Given the description of an element on the screen output the (x, y) to click on. 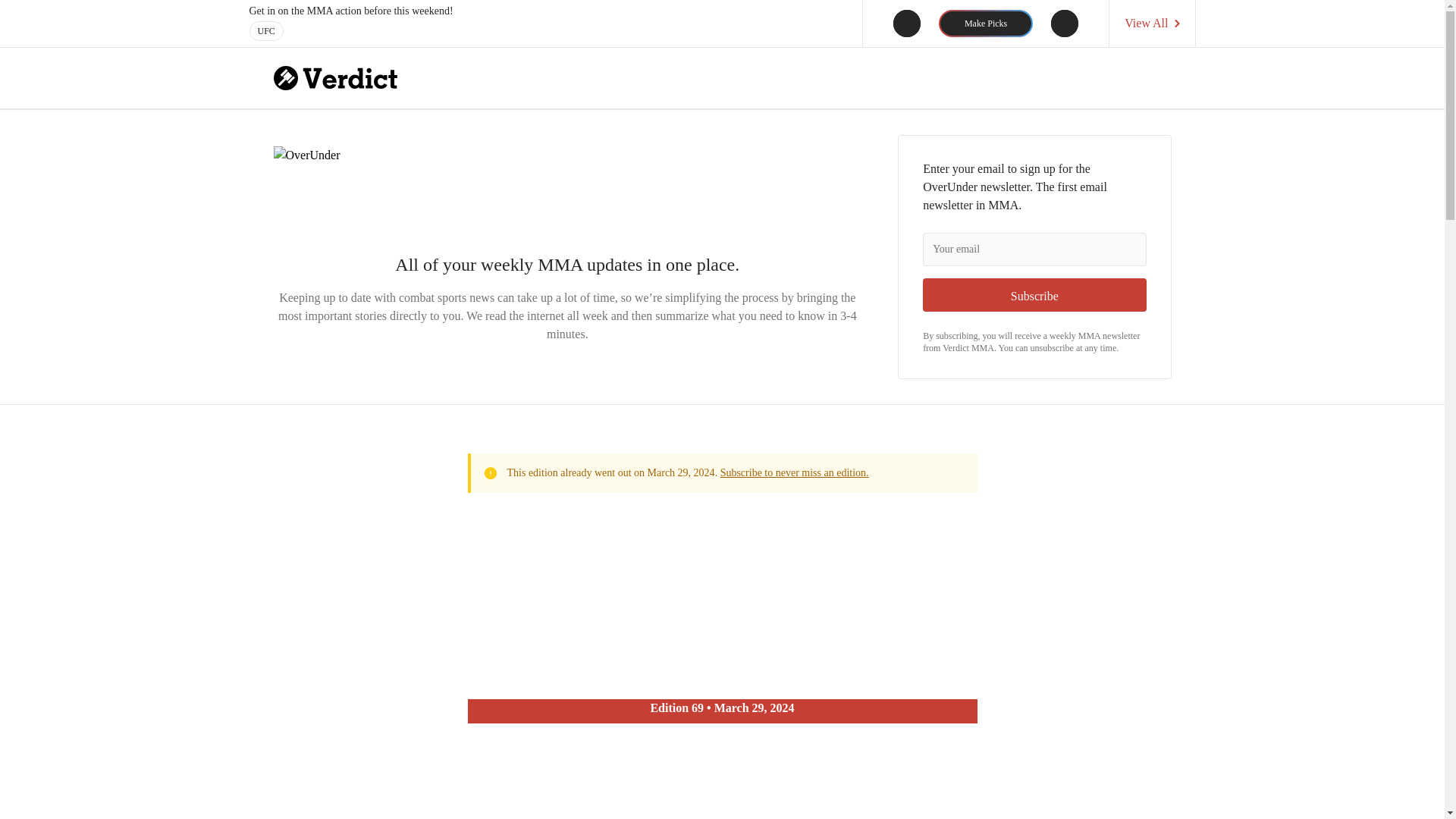
Subscribe to never miss an edition. (794, 472)
Subscribe (1034, 295)
